Given the description of an element on the screen output the (x, y) to click on. 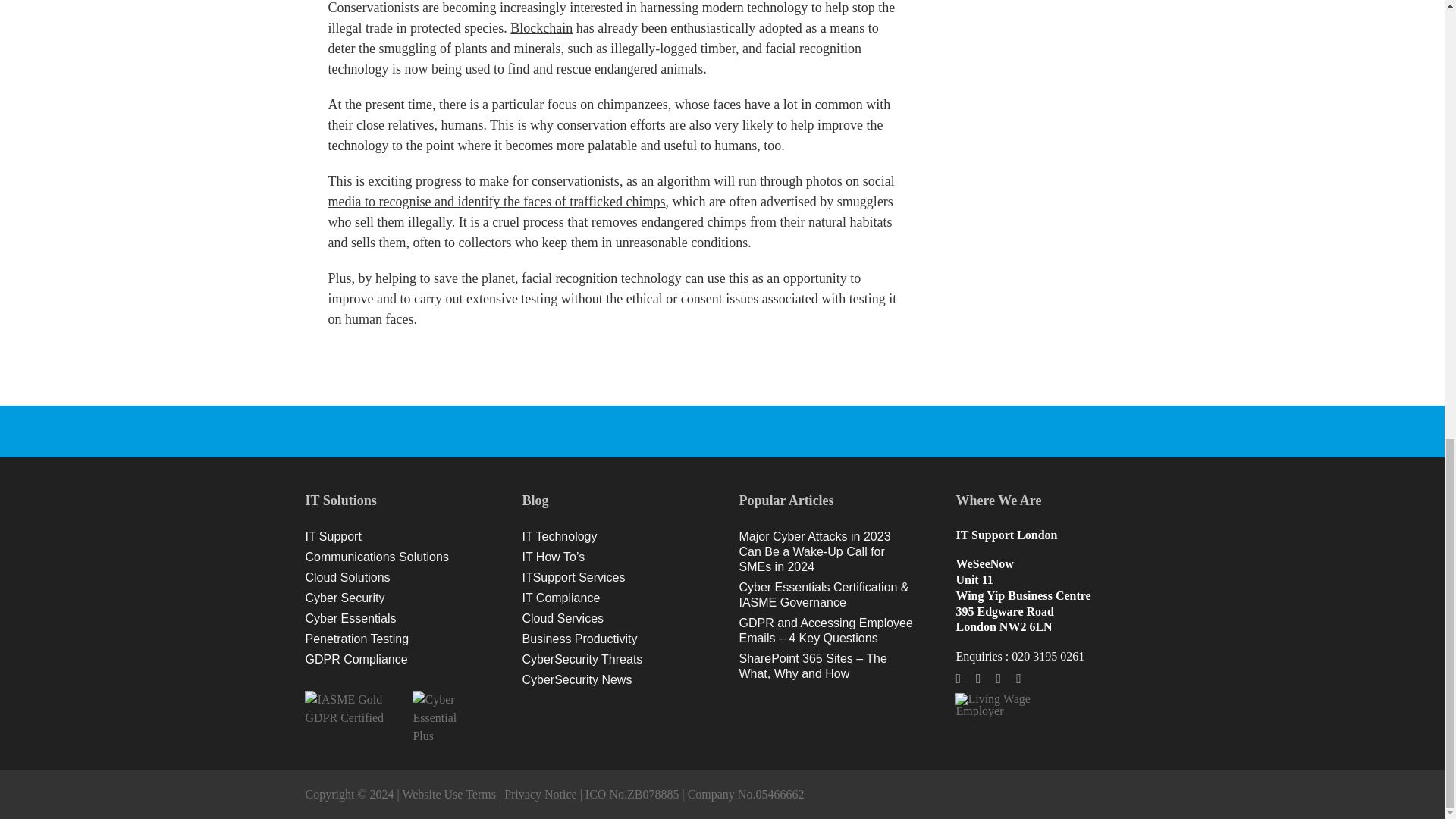
Communications Solutions (395, 557)
LinkedIn (998, 678)
IT Support (395, 537)
Voice and Data Solutions (395, 557)
Instagram (1019, 678)
Blockchain (541, 28)
X (978, 678)
Living Wage Employer (992, 704)
Cyber Essentials (395, 618)
IT Support (395, 537)
Cyber Security (395, 598)
Cloud Solutions (395, 578)
Facebook (957, 678)
